Given the description of an element on the screen output the (x, y) to click on. 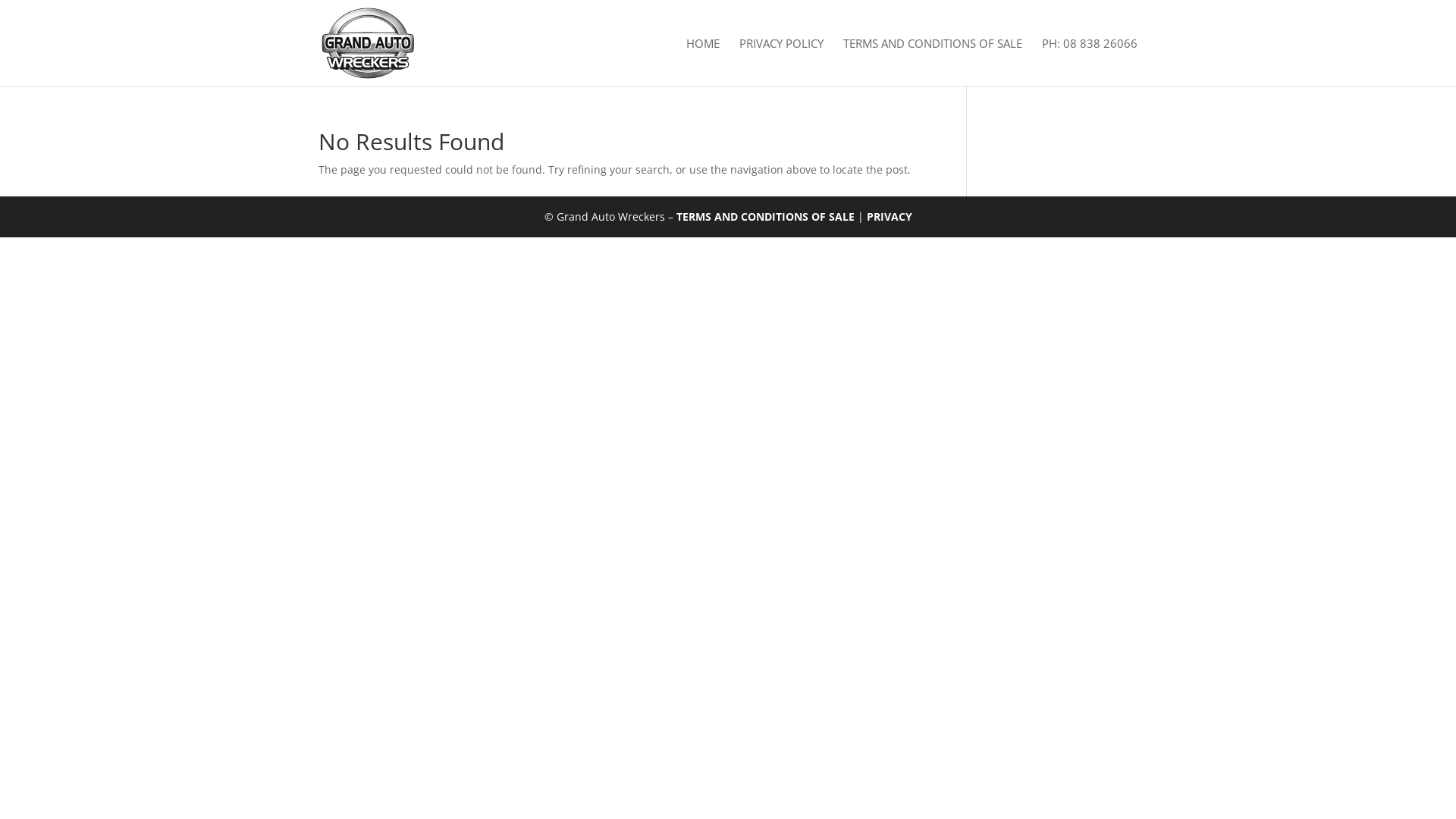
PRIVACY POLICY Element type: text (781, 61)
PH: 08 838 26066 Element type: text (1089, 61)
HOME Element type: text (702, 61)
TERMS AND CONDITIONS OF SALE Element type: text (765, 216)
TERMS AND CONDITIONS OF SALE Element type: text (932, 61)
PRIVACY Element type: text (888, 216)
